Given the description of an element on the screen output the (x, y) to click on. 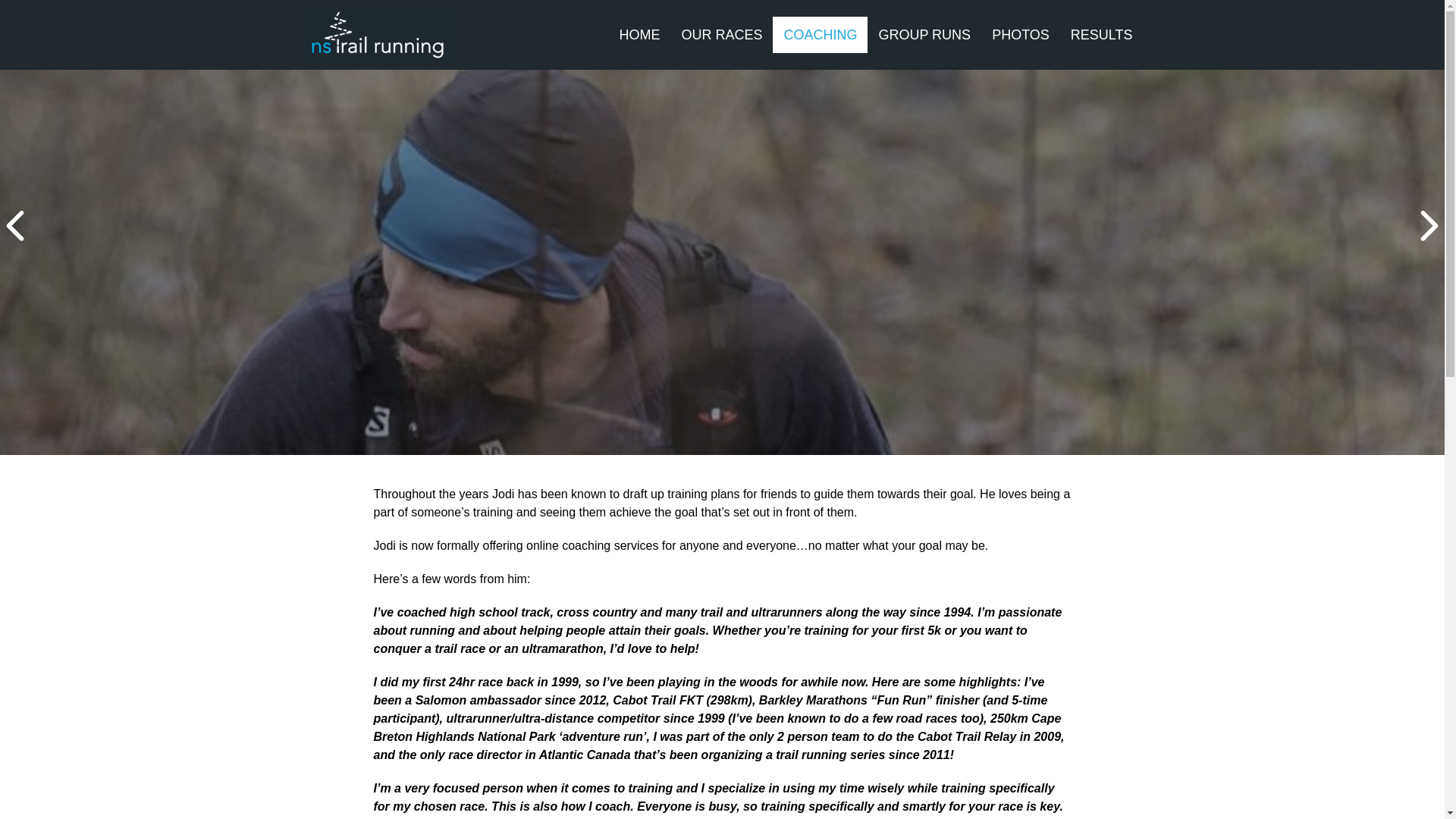
NSTR Home (376, 34)
RESULTS (1100, 35)
PHOTOS (1020, 35)
HOME (638, 35)
COACHING (820, 35)
GROUP RUNS (924, 35)
OUR RACES (721, 35)
